Given the description of an element on the screen output the (x, y) to click on. 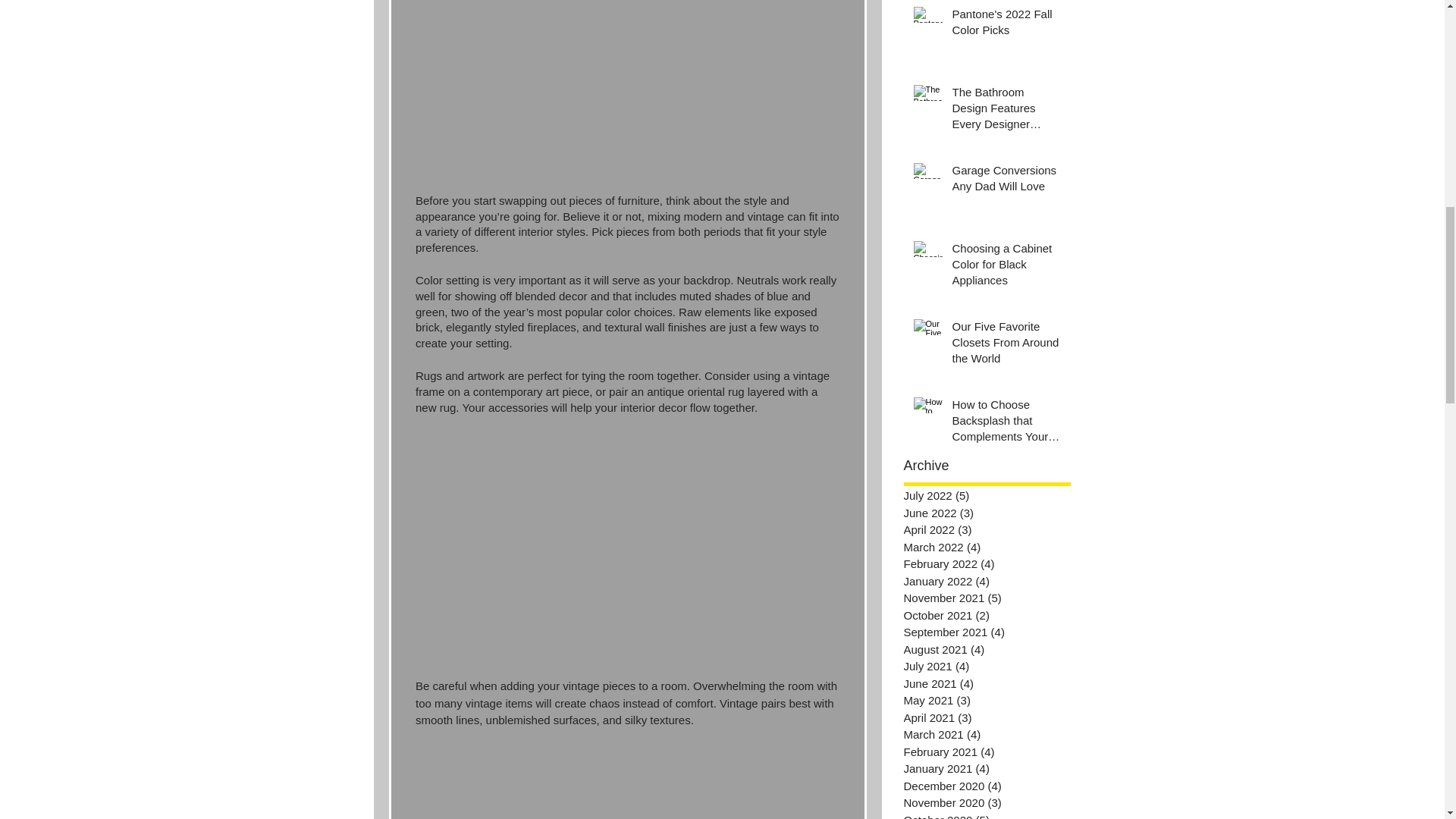
Choosing a Cabinet Color for Black Appliances (1006, 267)
Garage Conversions Any Dad Will Love (1006, 180)
Pantone's 2022 Fall Color Picks (1006, 24)
Our Five Favorite Closets From Around the World (1006, 345)
How to Choose Backsplash that Complements Your Countertops (1006, 423)
The Bathroom Design Features Every Designer Recommends (1006, 111)
